Given the description of an element on the screen output the (x, y) to click on. 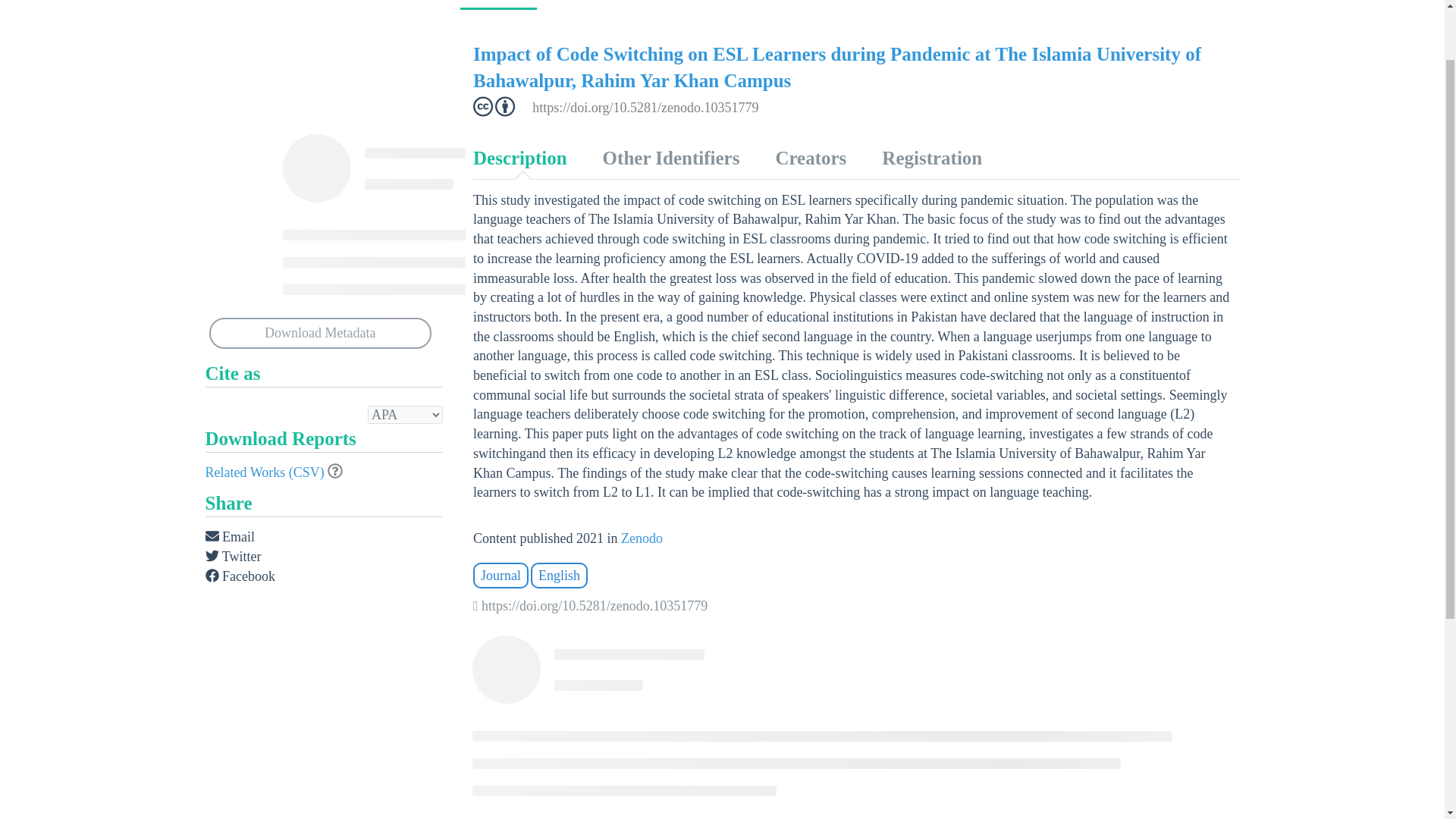
People (578, 3)
Email (229, 537)
Repositories (794, 3)
Twitter (232, 557)
Zenodo (641, 538)
Download Metadata (320, 333)
Registration (931, 158)
Description (519, 158)
Download Metadata (320, 333)
Works (498, 4)
Organizations (678, 3)
